Given the description of an element on the screen output the (x, y) to click on. 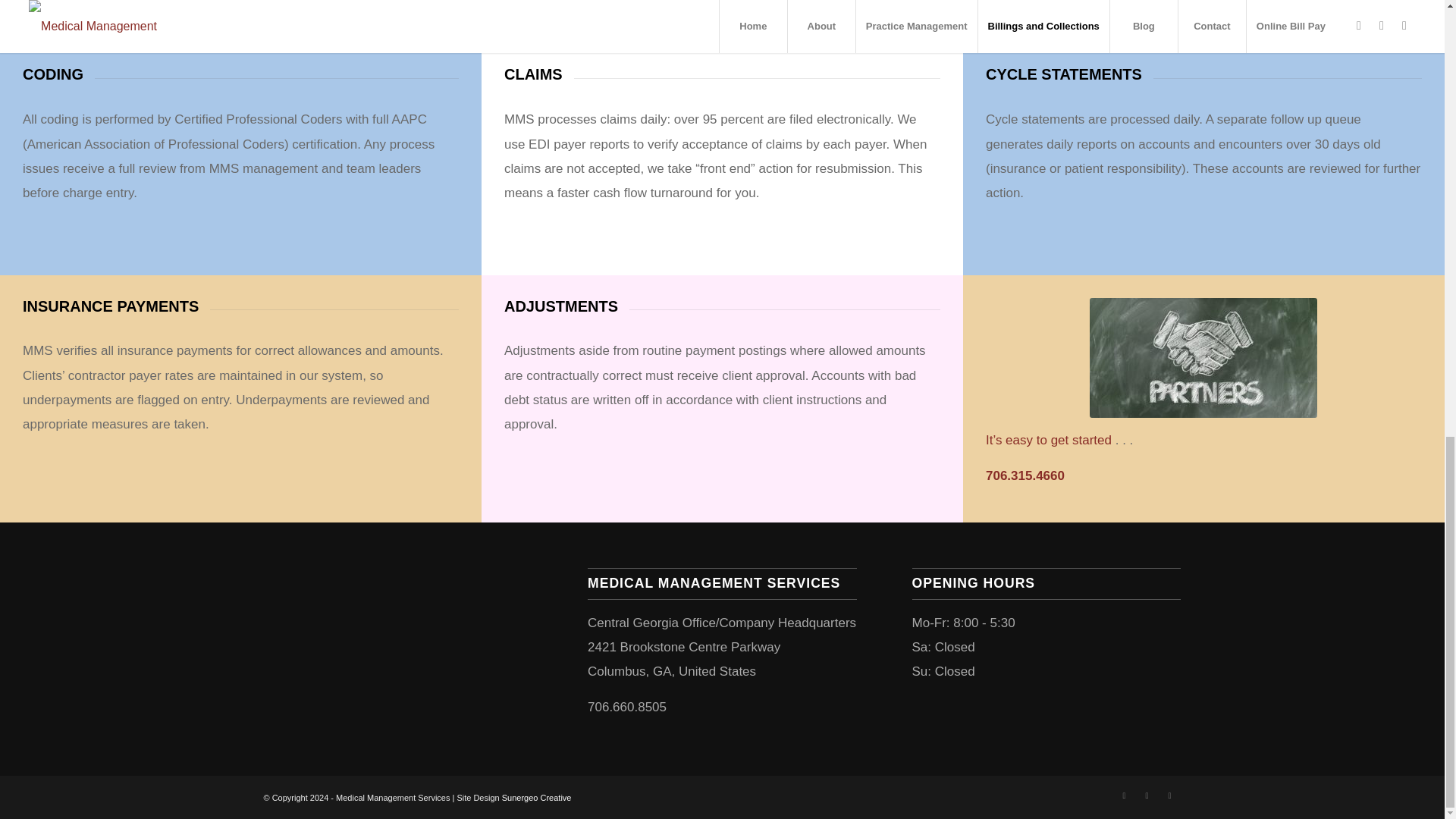
Mail (1169, 794)
Sunergeo Creative (537, 797)
Facebook (1124, 794)
medical-billing-services (1203, 357)
Twitter (1146, 794)
